Given the description of an element on the screen output the (x, y) to click on. 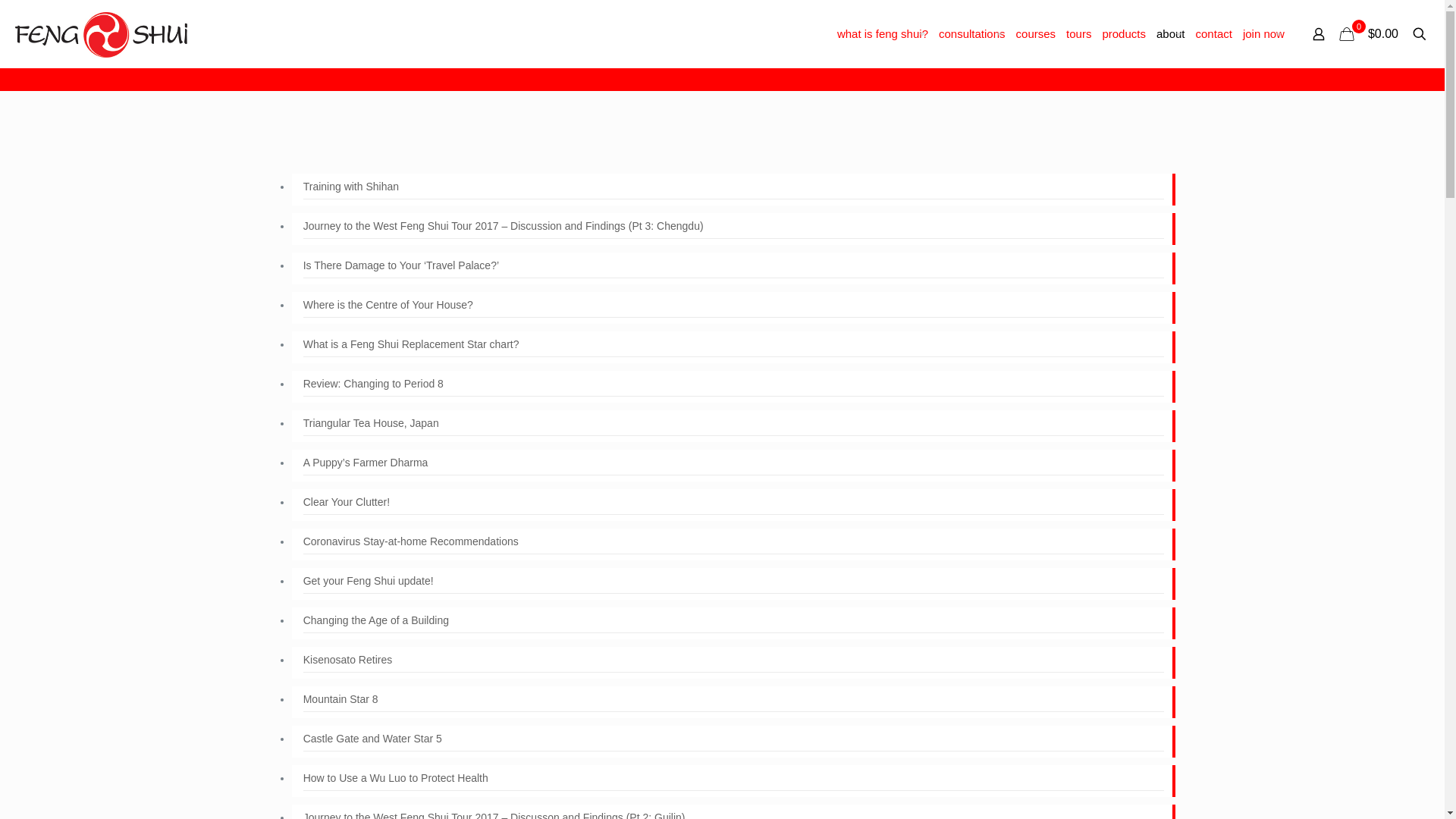
about Element type: text (1170, 34)
Get your Feng Shui update! Element type: text (733, 582)
tours Element type: text (1078, 34)
courses Element type: text (1035, 34)
Mountain Star 8 Element type: text (733, 701)
Training with Shihan Element type: text (733, 188)
Review: Changing to Period 8 Element type: text (733, 385)
0
$0.00 Element type: text (1369, 33)
contact Element type: text (1213, 34)
Kisenosato Retires Element type: text (733, 661)
Triangular Tea House, Japan Element type: text (733, 425)
What is a Feng Shui Replacement Star chart? Element type: text (733, 346)
consultations Element type: text (971, 34)
products Element type: text (1123, 34)
what is feng shui? Element type: text (882, 34)
Feng Shui Master Element type: hover (101, 34)
How to Use a Wu Luo to Protect Health Element type: text (733, 779)
Where is the Centre of Your House? Element type: text (733, 306)
Changing the Age of a Building Element type: text (733, 622)
join now Element type: text (1263, 34)
Clear Your Clutter! Element type: text (733, 503)
Castle Gate and Water Star 5 Element type: text (733, 740)
Coronavirus Stay-at-home Recommendations Element type: text (733, 543)
